Given the description of an element on the screen output the (x, y) to click on. 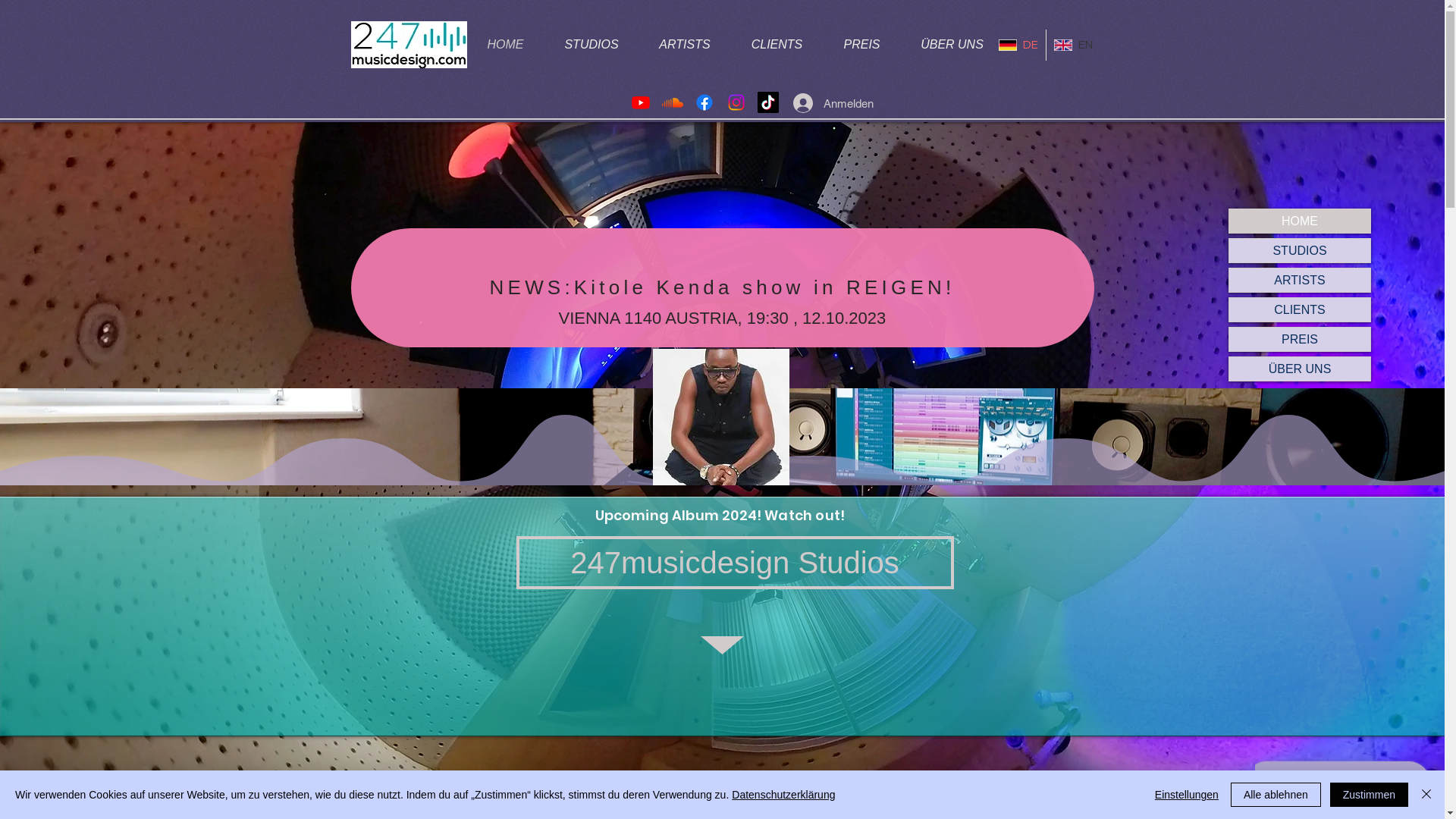
116443032_2794450744119430_3416650467907 Element type: hover (720, 416)
PREIS Element type: text (853, 44)
ARTISTS Element type: text (678, 44)
Anmelden Element type: text (806, 102)
Zustimmen Element type: text (1369, 794)
EN Element type: text (1073, 44)
CLIENTS Element type: text (1299, 309)
CLIENTS Element type: text (765, 44)
HOME Element type: text (504, 44)
STUDIOS Element type: text (1299, 250)
247musicdesign Studios Element type: text (734, 562)
DE Element type: text (1017, 44)
PREIS Element type: text (861, 44)
Alle ablehnen Element type: text (1275, 794)
STUDIOS Element type: text (591, 44)
ARTISTS Element type: text (1299, 279)
ARTISTS Element type: text (684, 44)
STUDIOS Element type: text (590, 44)
NEWS:Kitole Kenda show in REIGEN! Element type: text (721, 287)
HOME Element type: text (1299, 220)
PREIS Element type: text (1299, 339)
HOME Element type: text (505, 44)
CLIENTS Element type: text (777, 44)
